Given the description of an element on the screen output the (x, y) to click on. 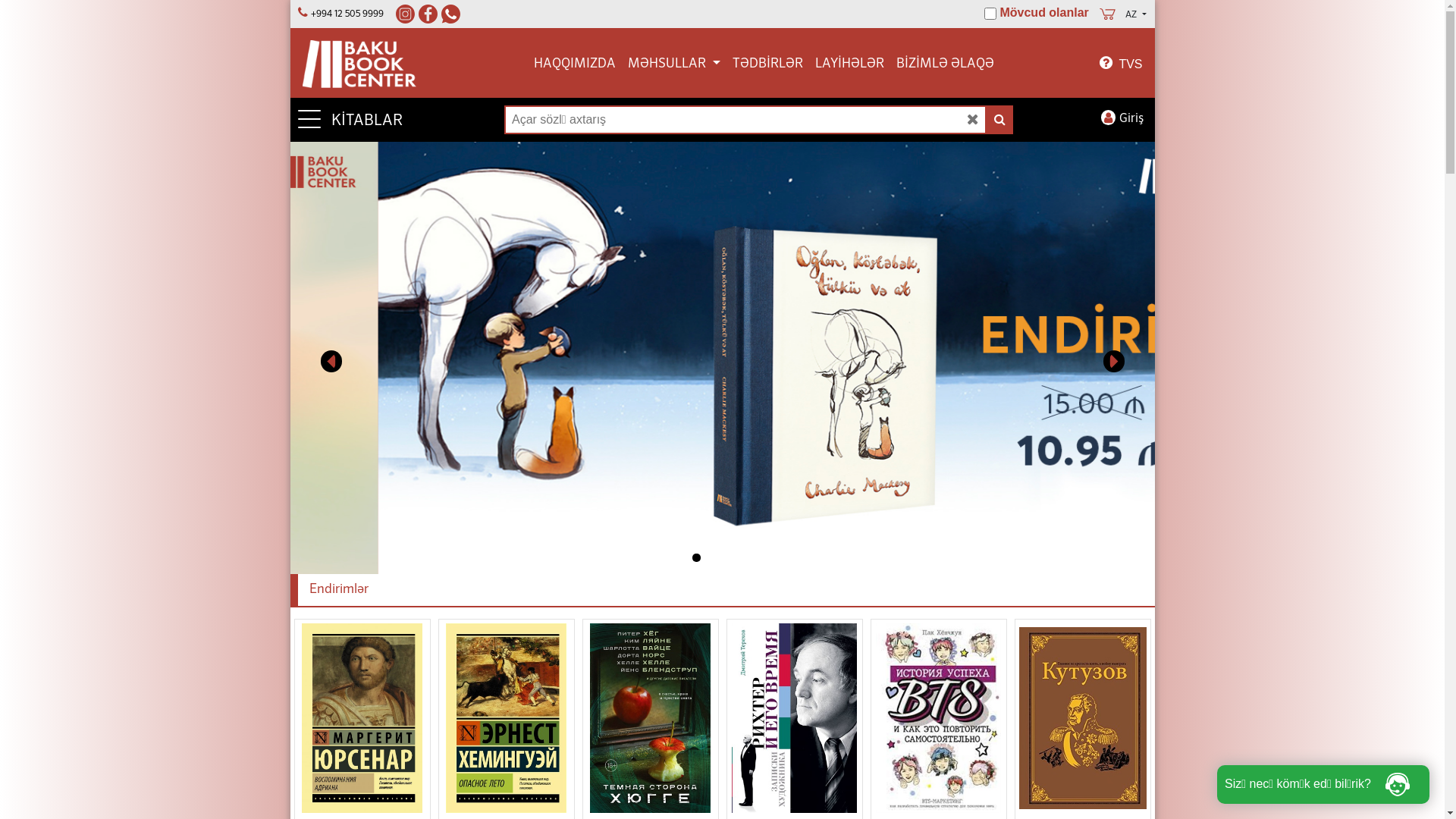
Previous Element type: text (318, 357)
Next Element type: text (1125, 357)
AZ Element type: text (1135, 14)
TVS Element type: text (1120, 63)
+994 12 505 9999 Element type: text (350, 13)
HAQQIMIZDA Element type: text (574, 64)
